Given the description of an element on the screen output the (x, y) to click on. 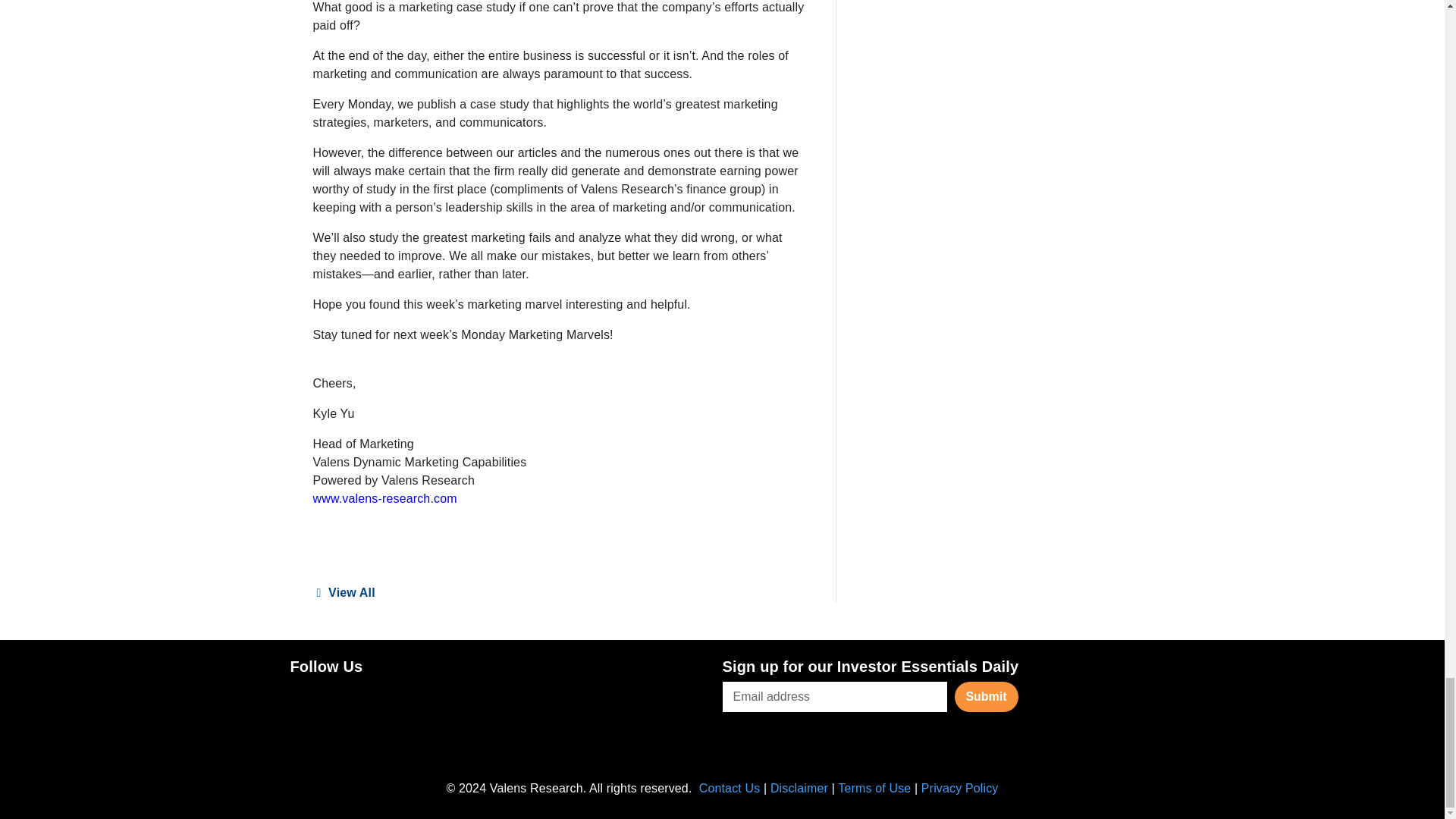
www.valens-research.com (385, 498)
